Given the description of an element on the screen output the (x, y) to click on. 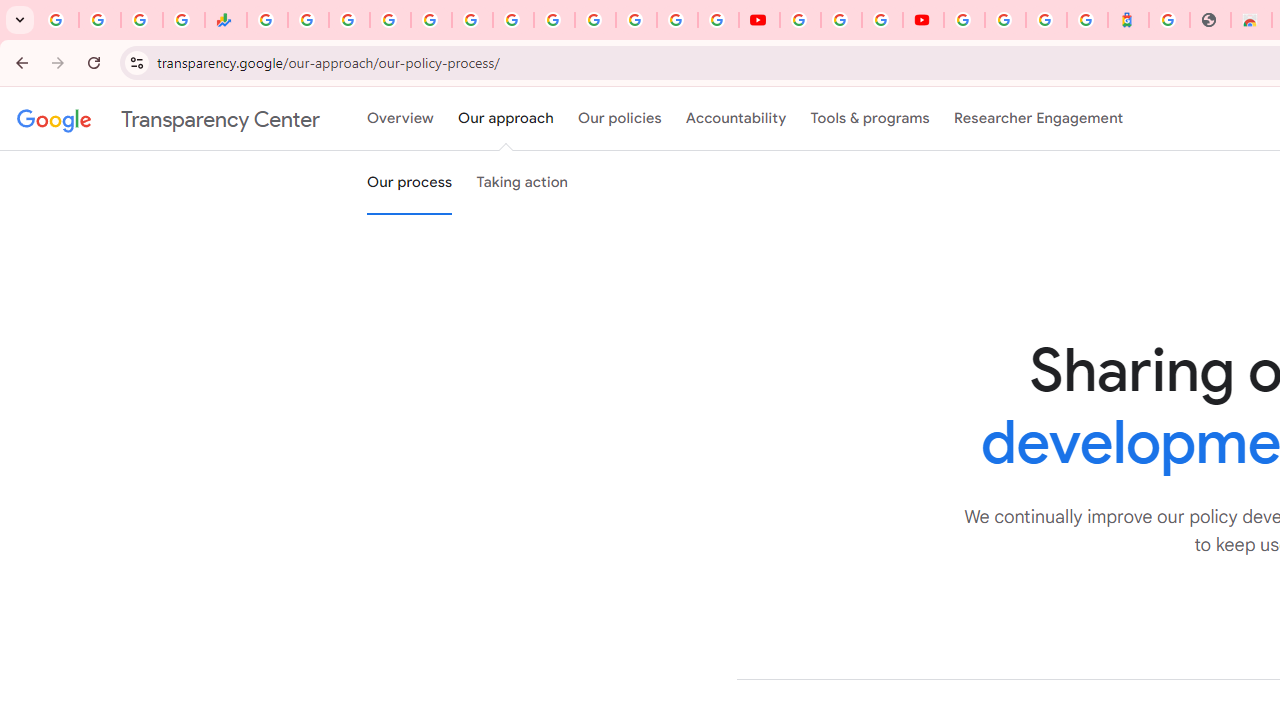
Researcher Engagement (1038, 119)
Our approach (506, 119)
Sign in - Google Accounts (1005, 20)
YouTube (758, 20)
YouTube (553, 20)
Our process (409, 183)
Atour Hotel - Google hotels (1128, 20)
Google Account Help (840, 20)
YouTube (799, 20)
Privacy Checkup (717, 20)
